Given the description of an element on the screen output the (x, y) to click on. 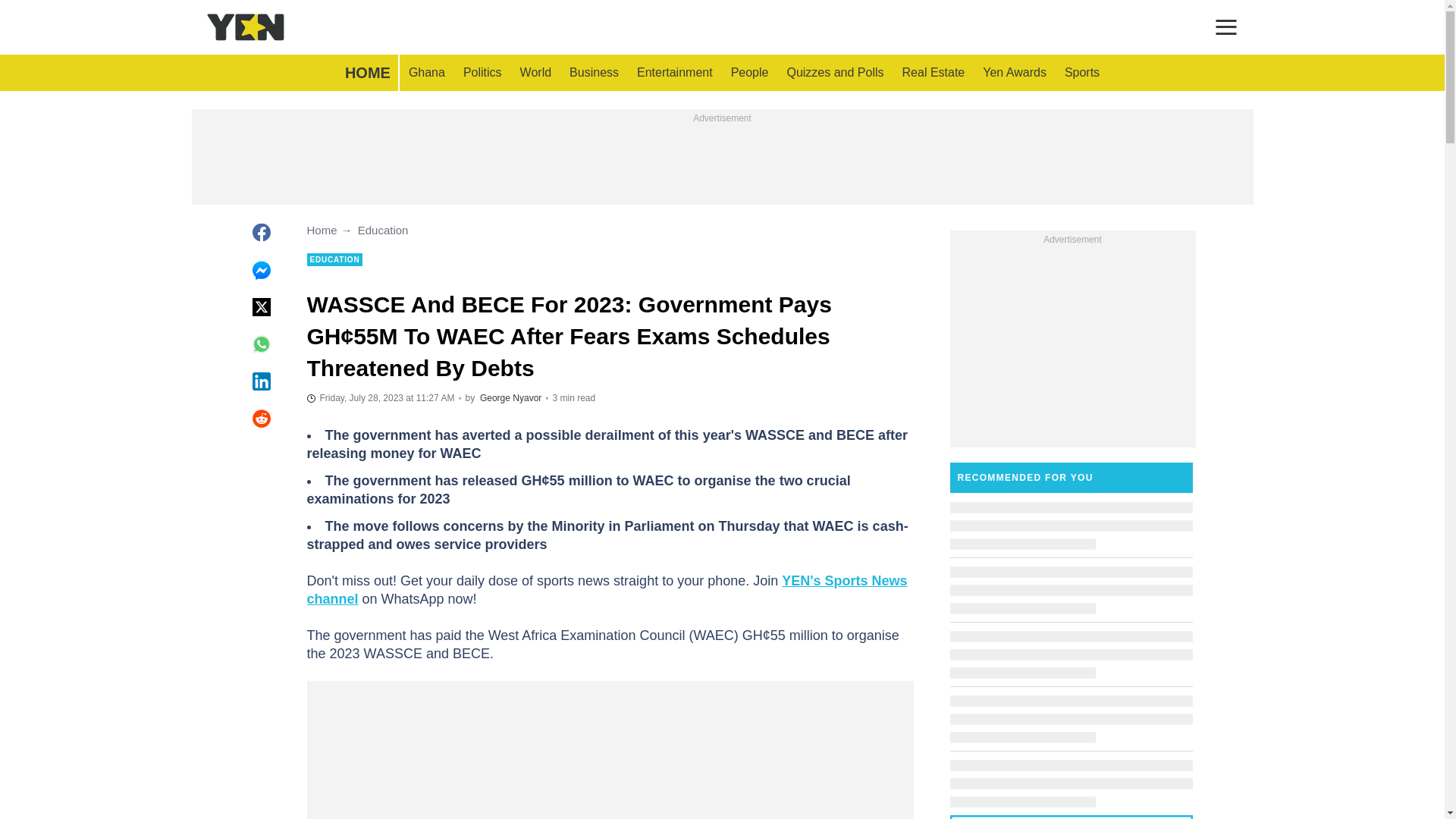
World (535, 72)
2023-07-28T11:27:42Z (379, 398)
Real Estate (933, 72)
Author page (510, 398)
HOME (367, 72)
Quizzes and Polls (834, 72)
Ghana (426, 72)
People (749, 72)
Yen Awards (1014, 72)
Sports (1081, 72)
